Given the description of an element on the screen output the (x, y) to click on. 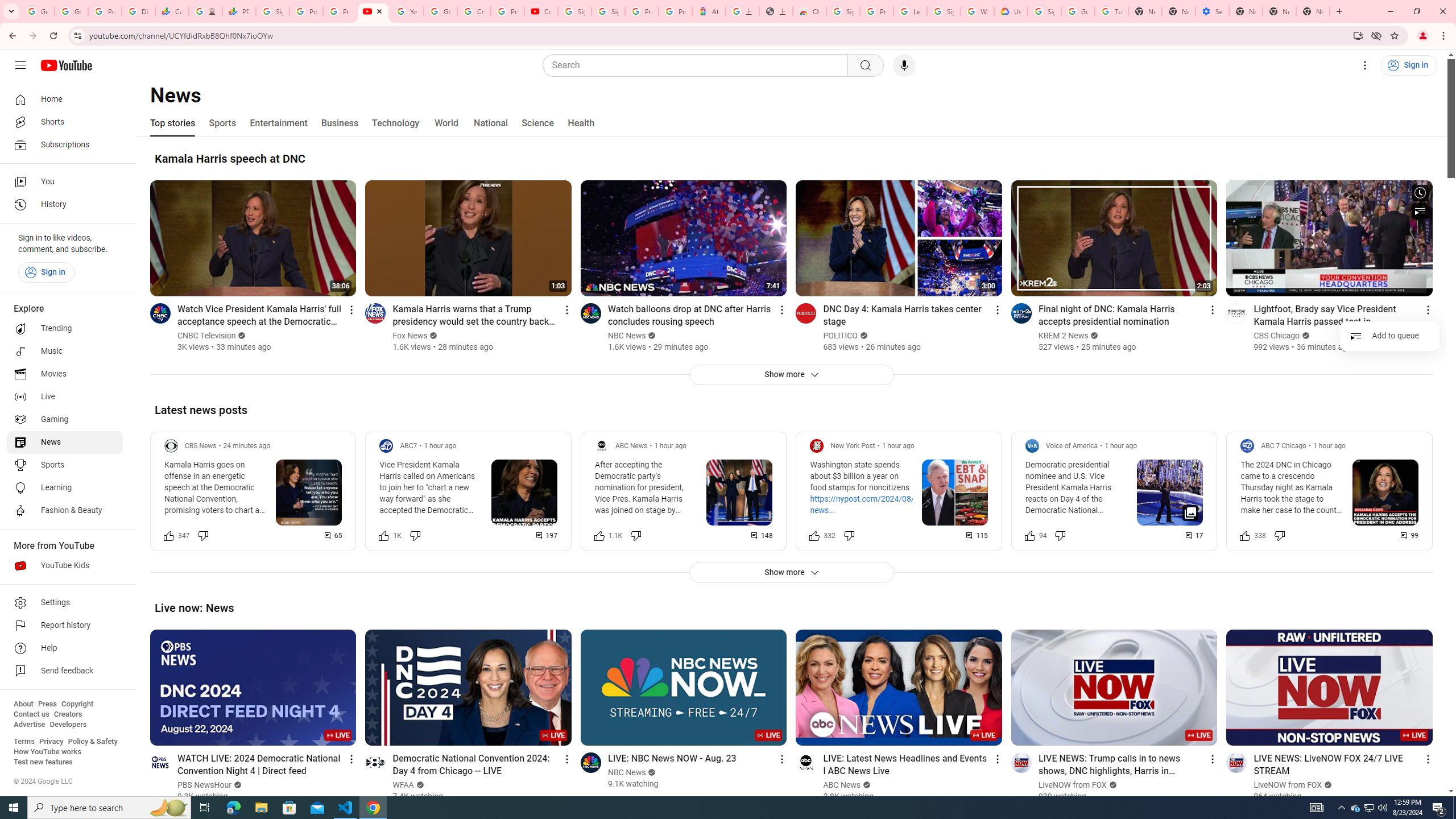
Add to queue (1389, 335)
Send feedback (64, 671)
Like this post along with 94 other people (1029, 534)
History (64, 204)
Press (46, 703)
Sports (64, 464)
ABC 7 Chicago (1283, 445)
Action menu (1427, 758)
